Given the description of an element on the screen output the (x, y) to click on. 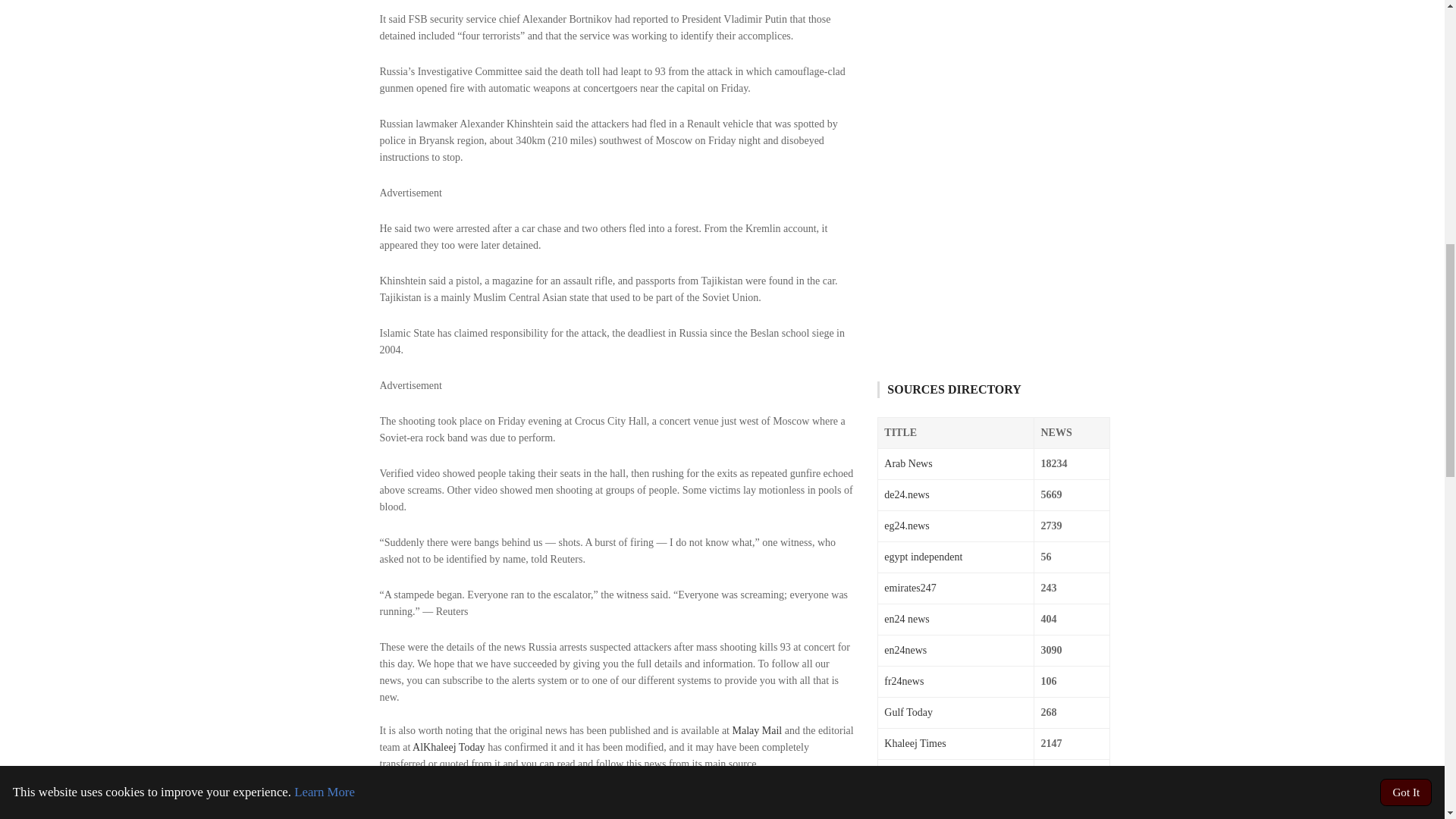
Malay Mail (757, 730)
AlKhaleej Today (448, 747)
